Given the description of an element on the screen output the (x, y) to click on. 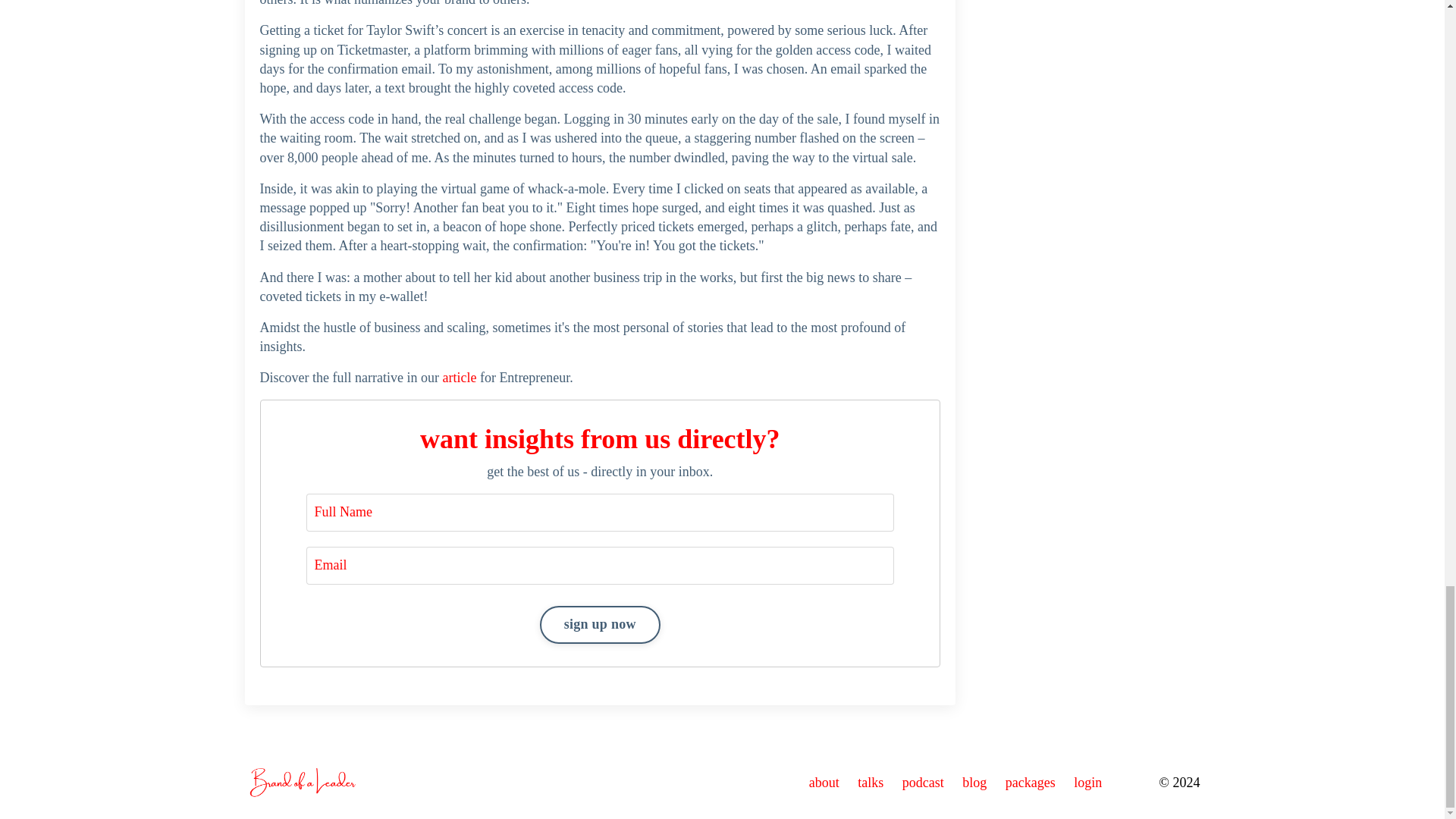
talks (870, 782)
packages (1030, 782)
about (824, 782)
podcast (922, 782)
article (459, 377)
login (1088, 782)
blog (974, 782)
sign up now (600, 624)
sign up now (600, 624)
